Given the description of an element on the screen output the (x, y) to click on. 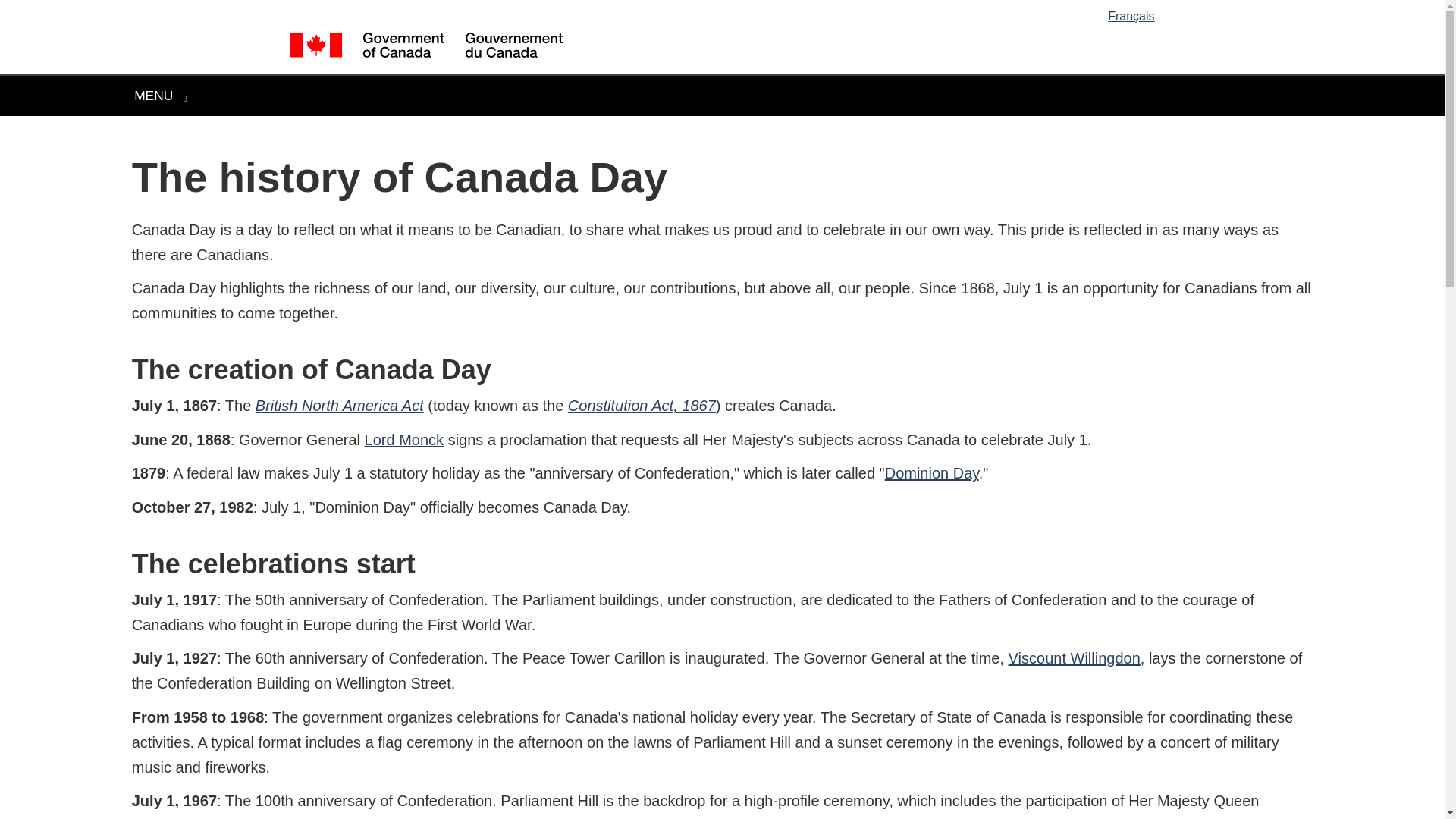
Dominion Day (159, 95)
Constitution Act, 1867 (931, 473)
Viscount Willingdon (641, 405)
Skip to main content (1074, 658)
Lord Monck (725, 11)
British North America Act (404, 439)
